Given the description of an element on the screen output the (x, y) to click on. 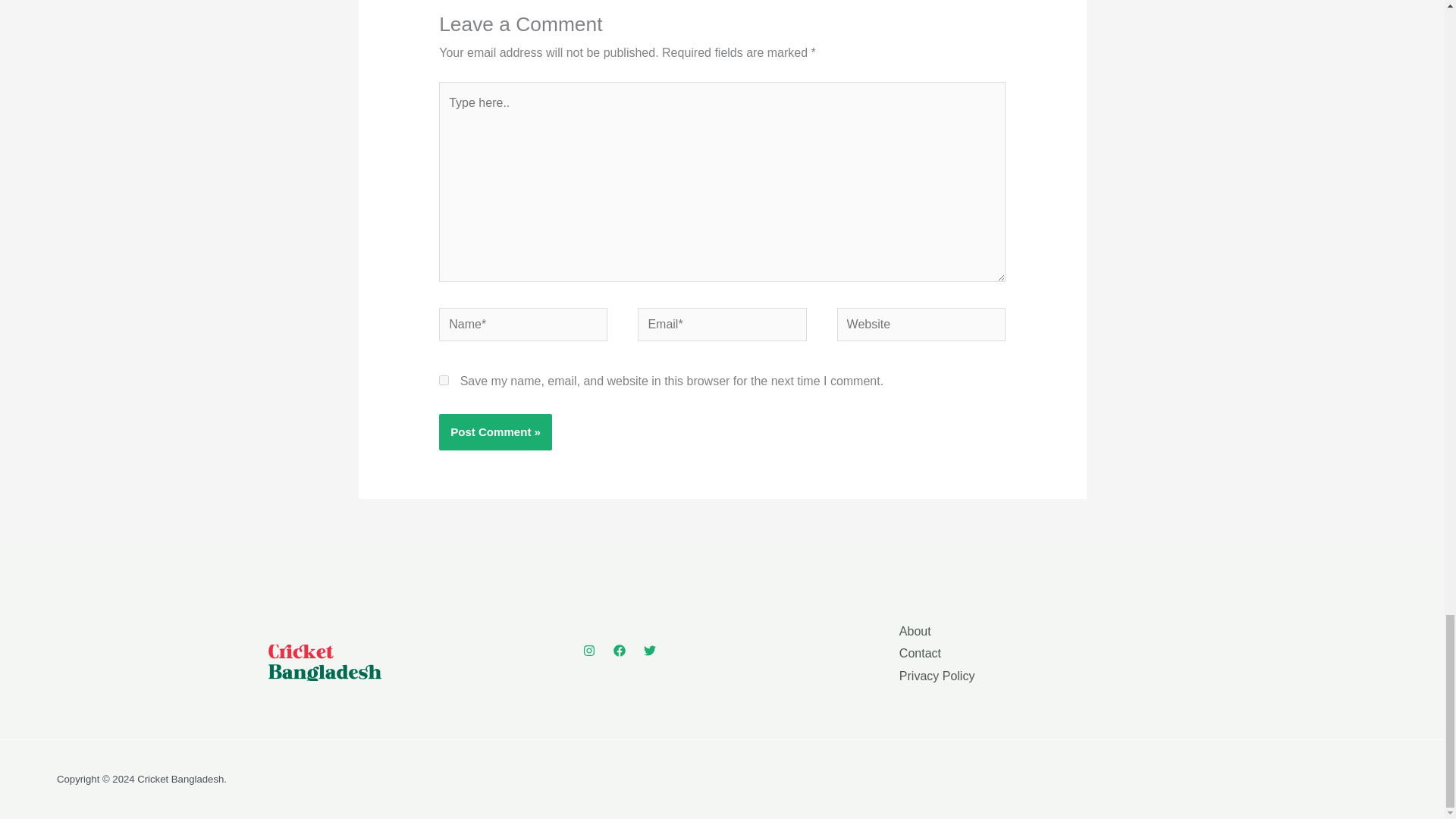
Contact (919, 653)
yes (443, 379)
About (915, 631)
Privacy Policy (937, 675)
